Given the description of an element on the screen output the (x, y) to click on. 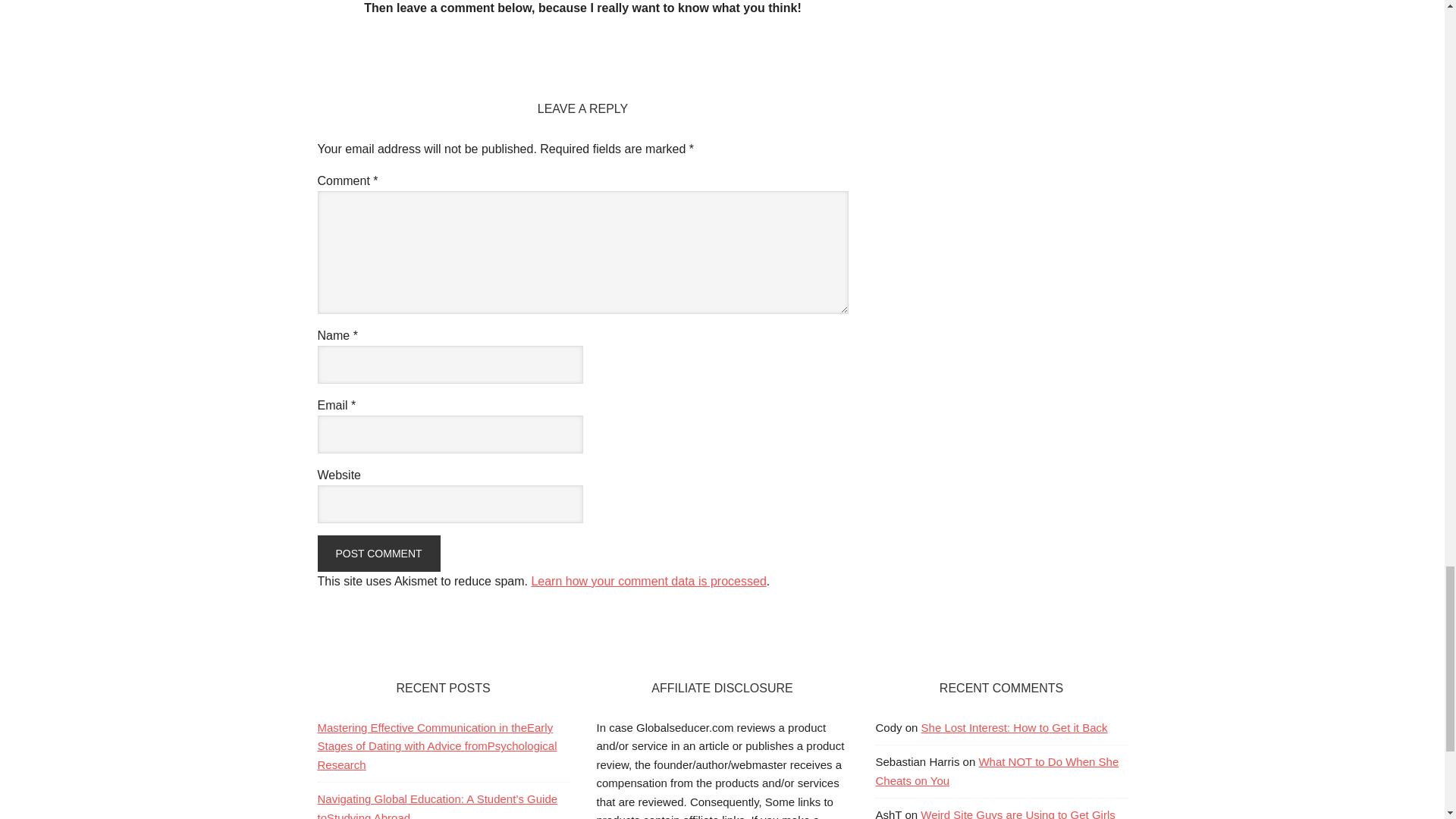
What NOT to Do When She Cheats on You (996, 770)
Post Comment (378, 553)
Learn how your comment data is processed (648, 581)
Post Comment (378, 553)
She Lost Interest: How to Get it Back (1014, 727)
